Given the description of an element on the screen output the (x, y) to click on. 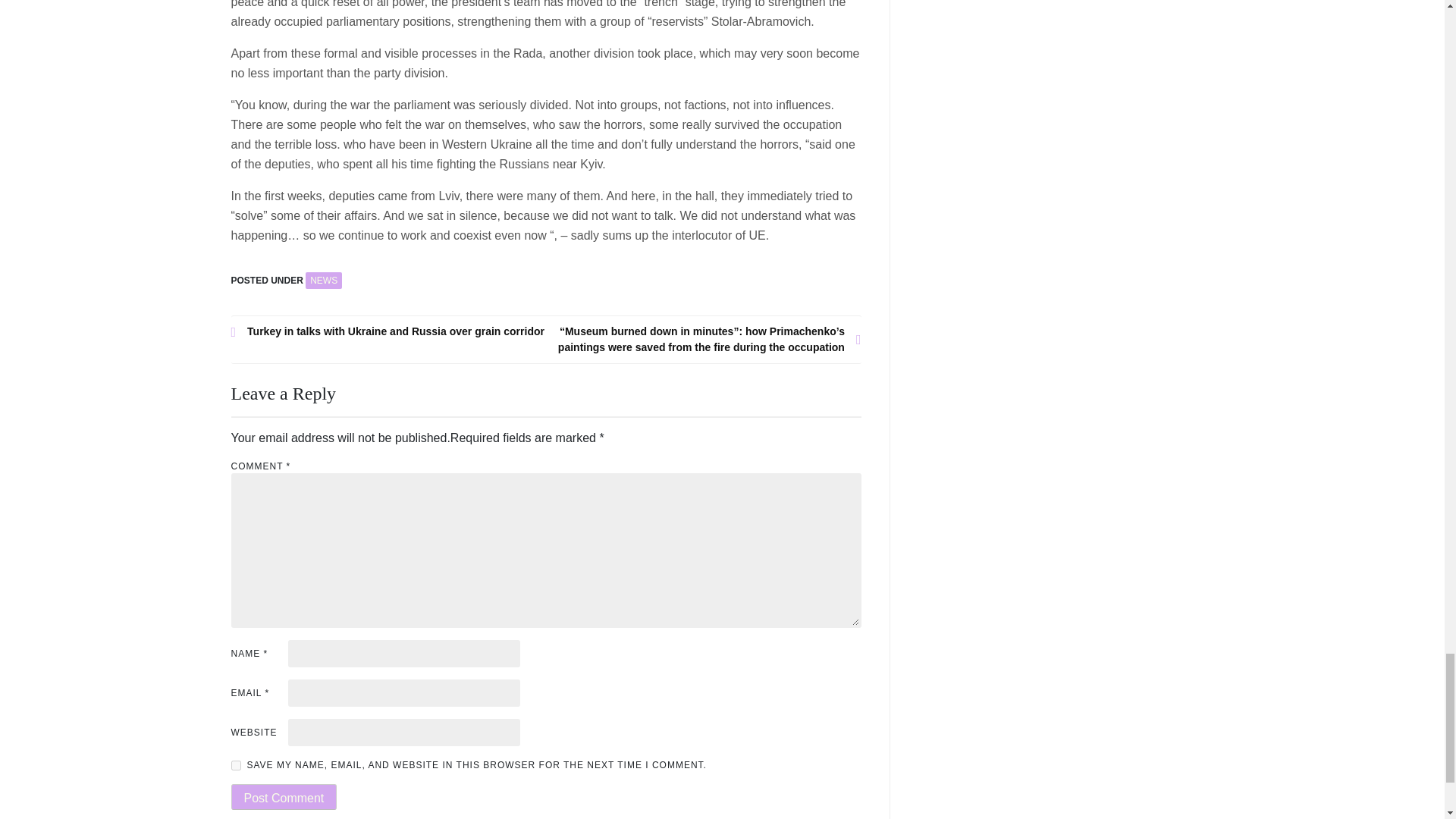
Post Comment (283, 796)
Turkey in talks with Ukraine and Russia over grain corridor (388, 331)
yes (235, 765)
NEWS (323, 280)
